Given the description of an element on the screen output the (x, y) to click on. 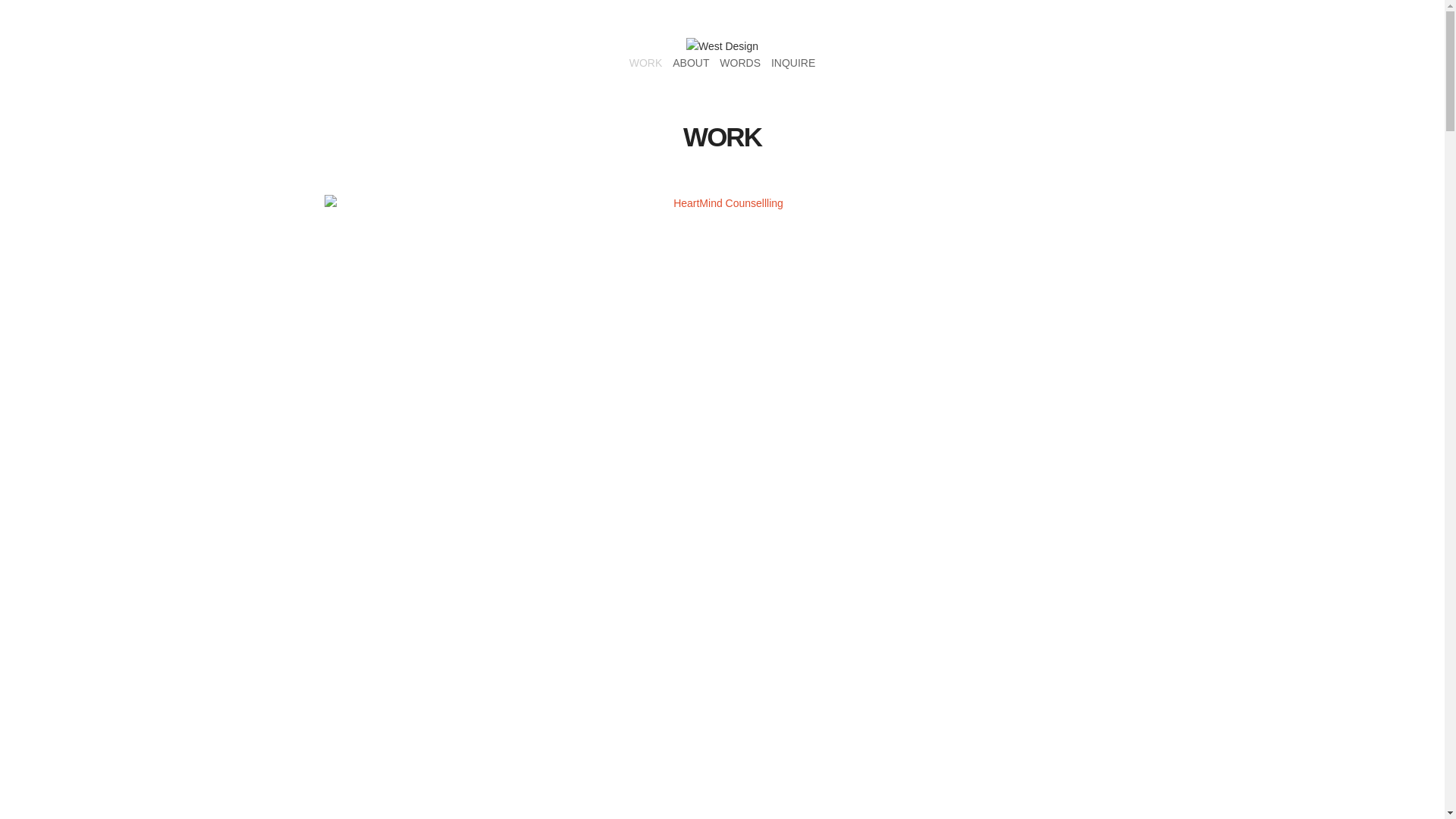
WORDS Element type: text (739, 62)
ABOUT Element type: text (690, 62)
WORK Element type: text (645, 62)
INQUIRE Element type: text (793, 62)
West Design Element type: hover (722, 45)
